Given the description of an element on the screen output the (x, y) to click on. 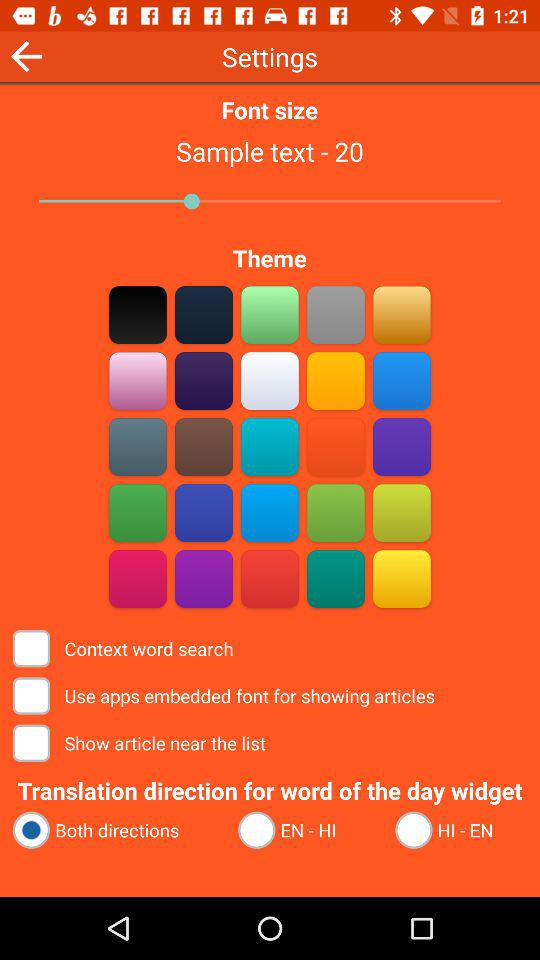
select cream theme (269, 380)
